Given the description of an element on the screen output the (x, y) to click on. 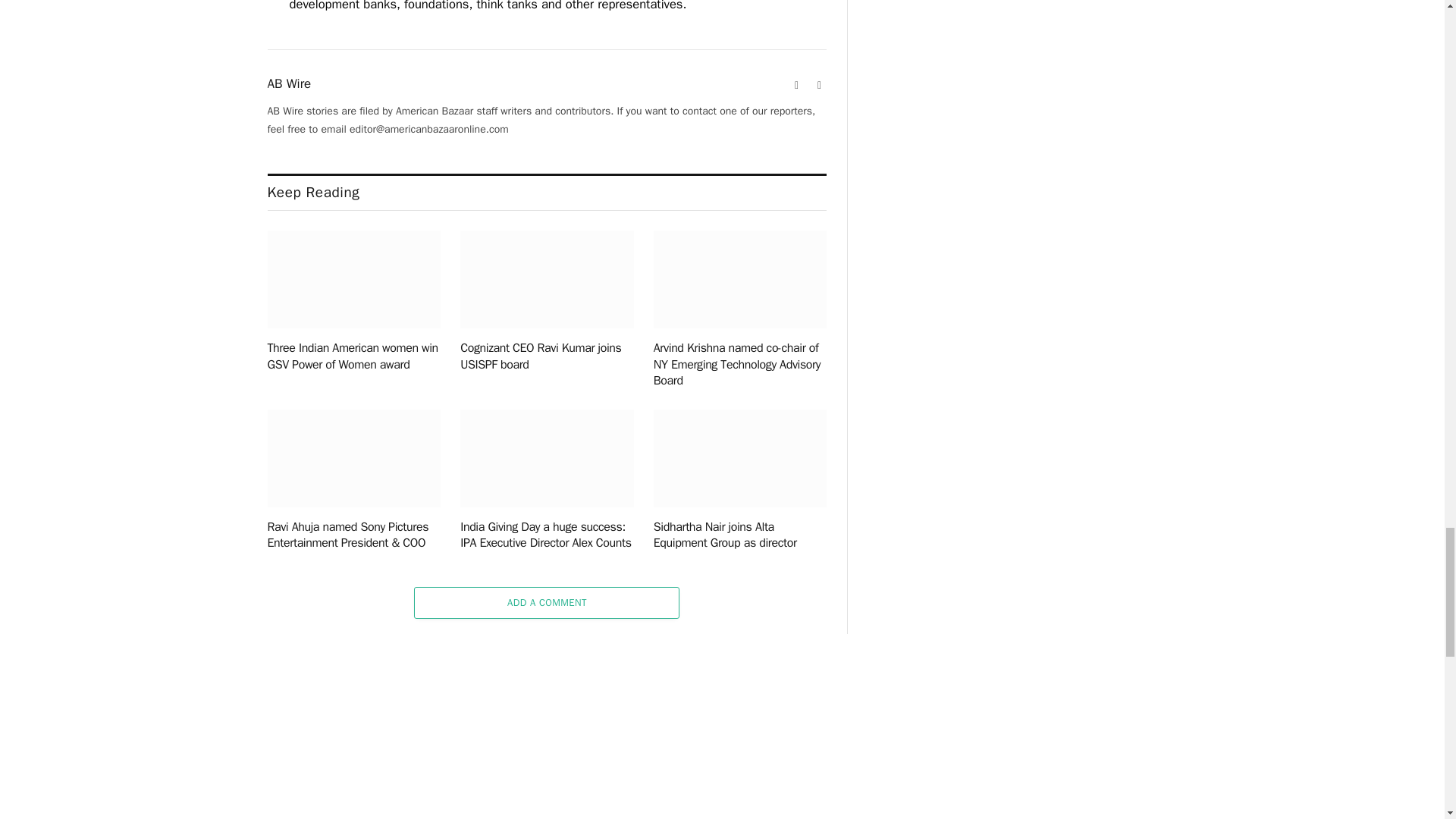
AB Wire (288, 83)
Three Indian American women win GSV Power of Women award (353, 356)
Website (796, 85)
Twitter (818, 85)
Posts by AB Wire (288, 83)
